Given the description of an element on the screen output the (x, y) to click on. 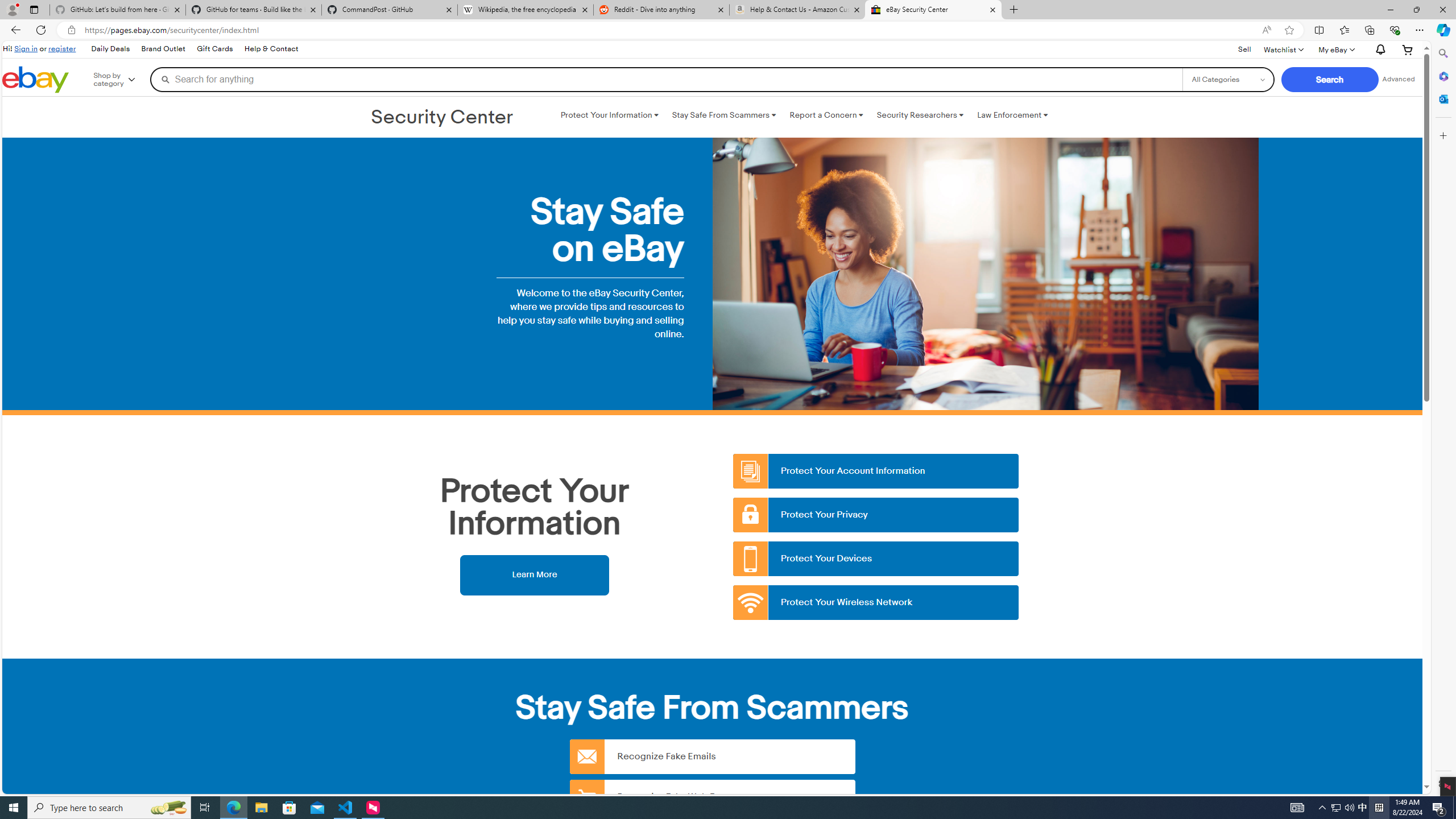
Security Researchers  (919, 115)
Sign in (25, 48)
Microsoft 365 (1442, 76)
Settings (1442, 783)
Read aloud this page (Ctrl+Shift+U) (1266, 29)
Law Enforcement  (1012, 115)
Side bar (1443, 418)
Daily Deals (109, 49)
Your shopping cart (1407, 49)
Shop by category (122, 79)
Report a Concern  (826, 115)
Protect Your Information  (608, 115)
Security Center (442, 117)
